Given the description of an element on the screen output the (x, y) to click on. 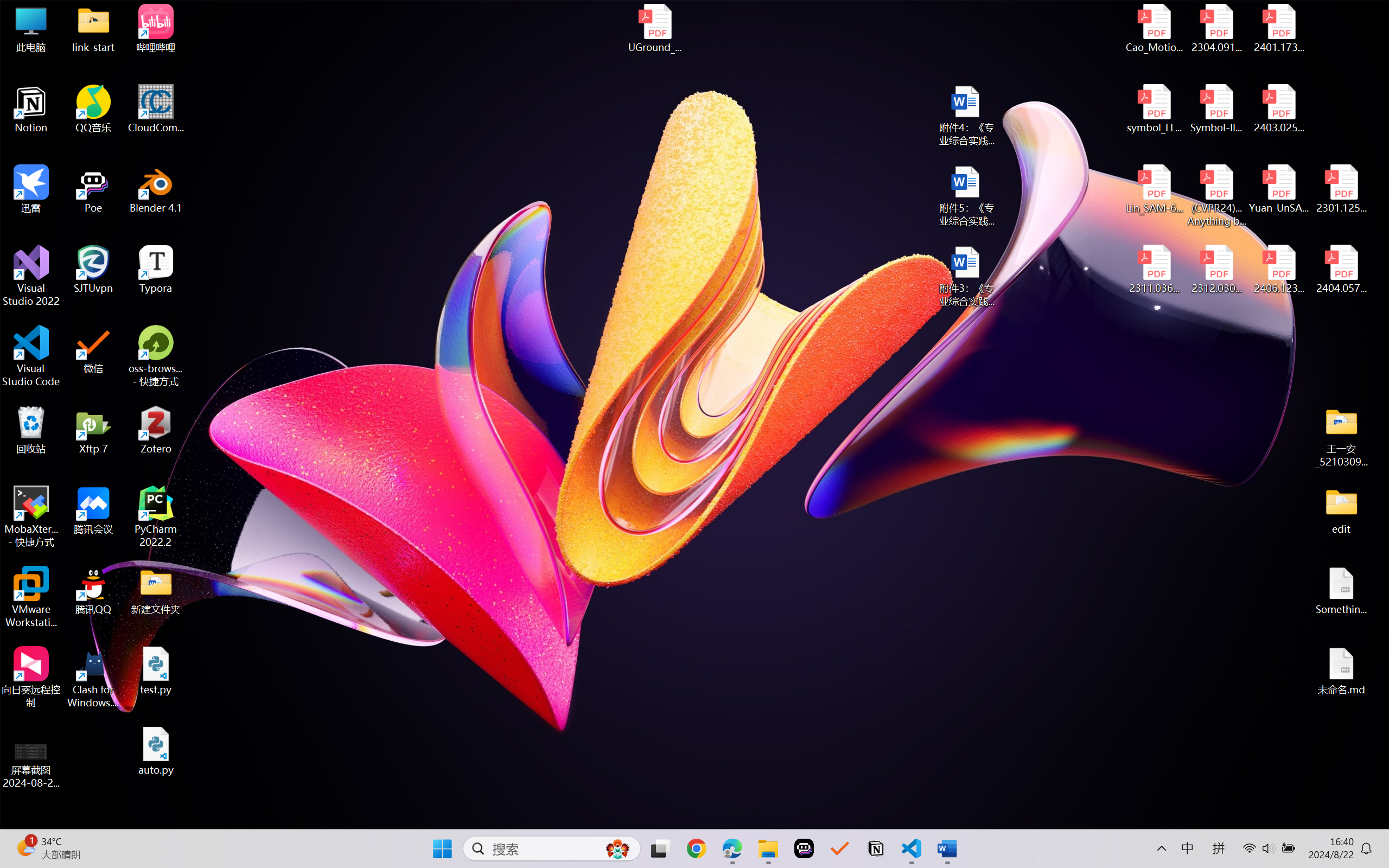
Typora (156, 269)
Notion (31, 109)
Xftp 7 (93, 430)
Visual Studio 2022 (31, 276)
Google Chrome (696, 848)
